Given the description of an element on the screen output the (x, y) to click on. 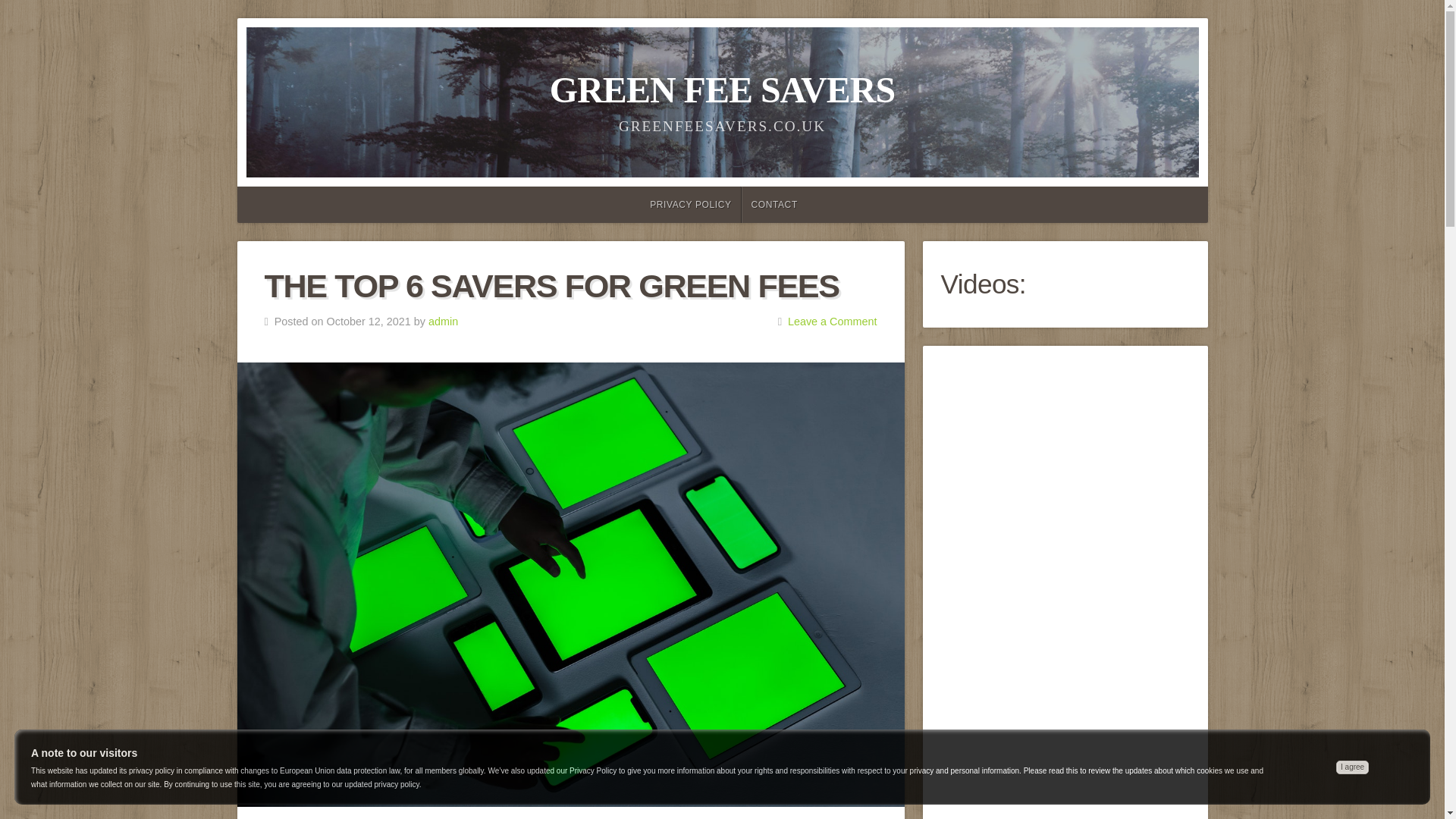
THE TOP 6 SAVERS FOR GREEN FEES (550, 285)
YouTube video player (1065, 798)
Leave a Comment (832, 321)
admin (443, 321)
GREEN FEE SAVERS (722, 89)
Posts by admin (443, 321)
PRIVACY POLICY (689, 204)
I agree (1352, 766)
YouTube video player (1065, 469)
YouTube video player (1065, 664)
